Given the description of an element on the screen output the (x, y) to click on. 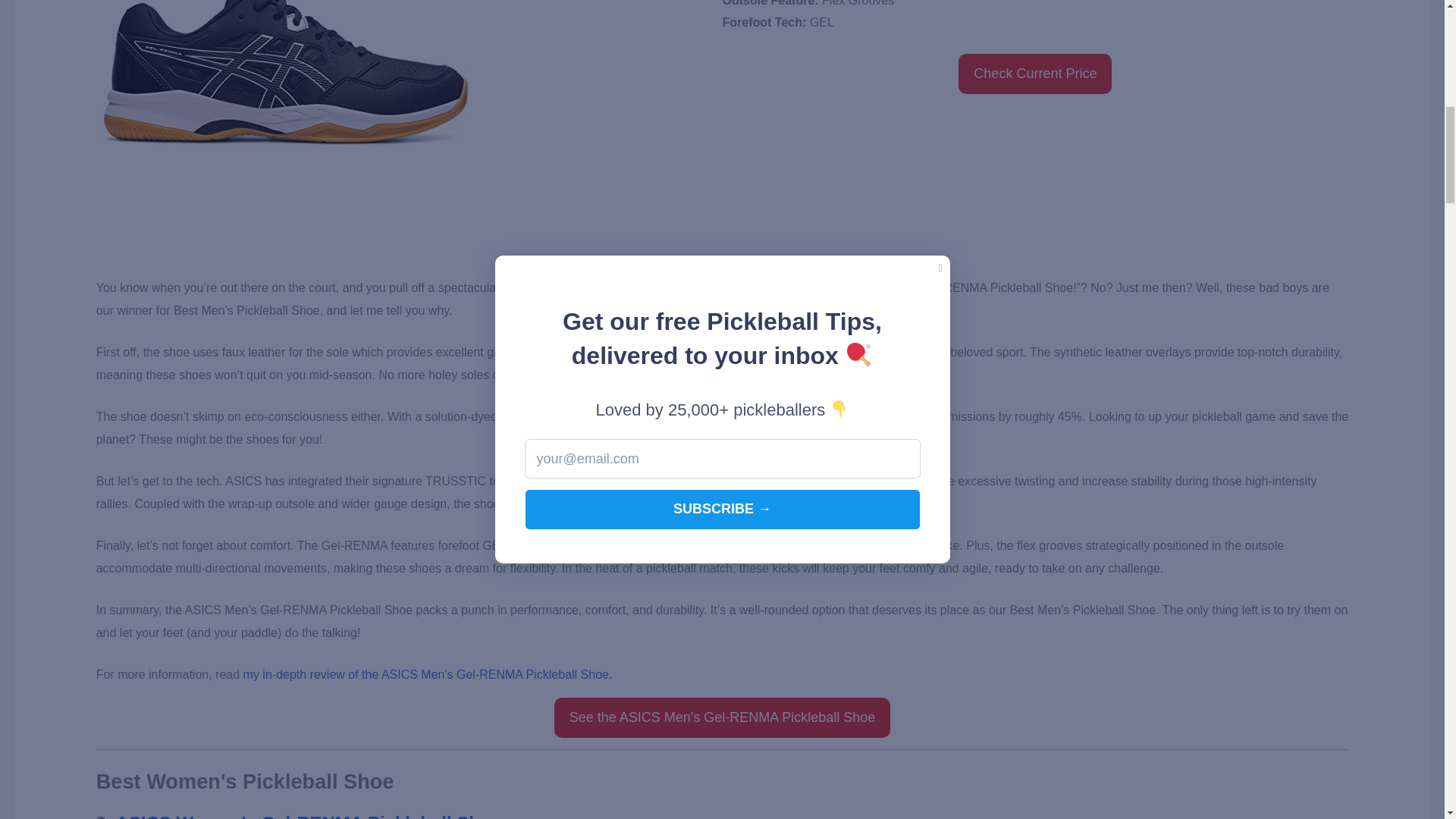
ASICS Women's Gel-RENMA Pickleball Shoe (309, 816)
See the ASICS Men's Gel-RENMA Pickleball Shoe (722, 717)
Check Current Price (1035, 74)
Check Current Price (1035, 74)
ASICS Women's Gel-RENMA Pickleball Shoe (309, 816)
See the ASICS Men's Gel-RENMA Pickleball Shoe (722, 717)
